Given the description of an element on the screen output the (x, y) to click on. 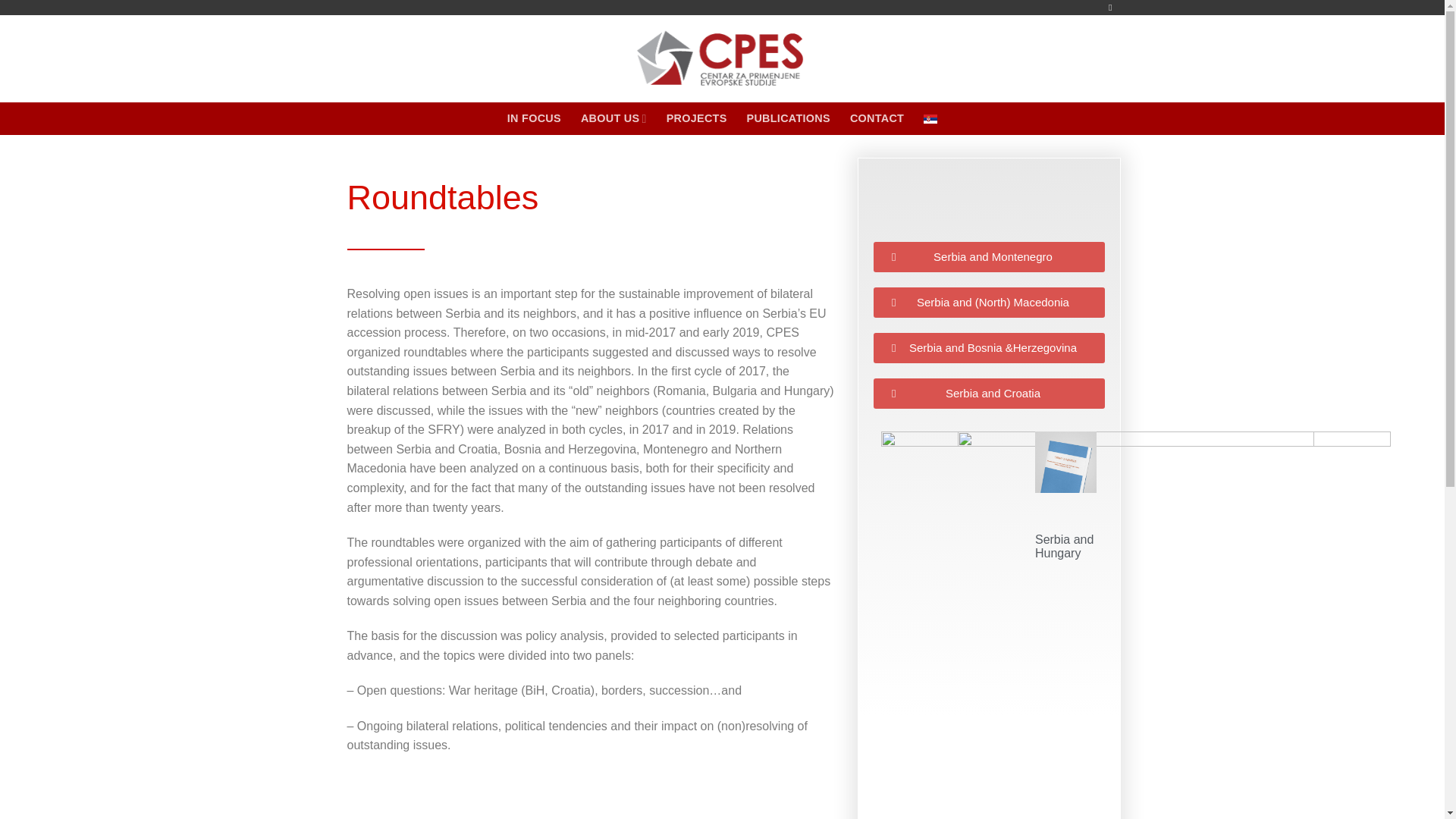
Serbia and Montenegro (989, 256)
PROJECTS (696, 118)
ABOUT US (613, 118)
Serbia and Croatia (989, 393)
CONTACT (877, 118)
Serbia and Hungary (1064, 546)
IN FOCUS (533, 118)
Centar za primenjene evropske studije - CPES (721, 58)
PUBLICATIONS (787, 118)
